Given the description of an element on the screen output the (x, y) to click on. 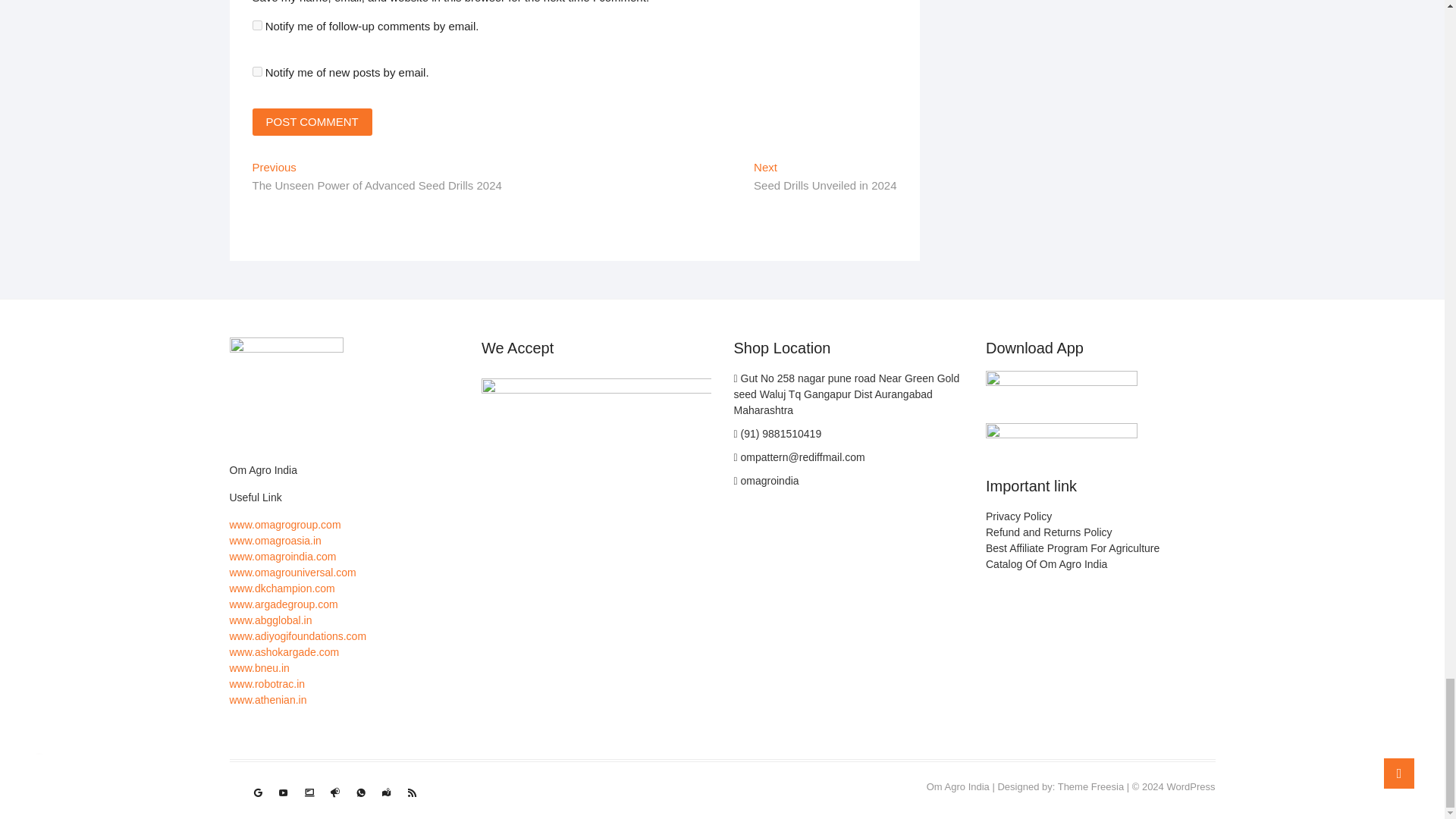
Post Comment (311, 121)
subscribe (256, 71)
subscribe (256, 25)
